Given the description of an element on the screen output the (x, y) to click on. 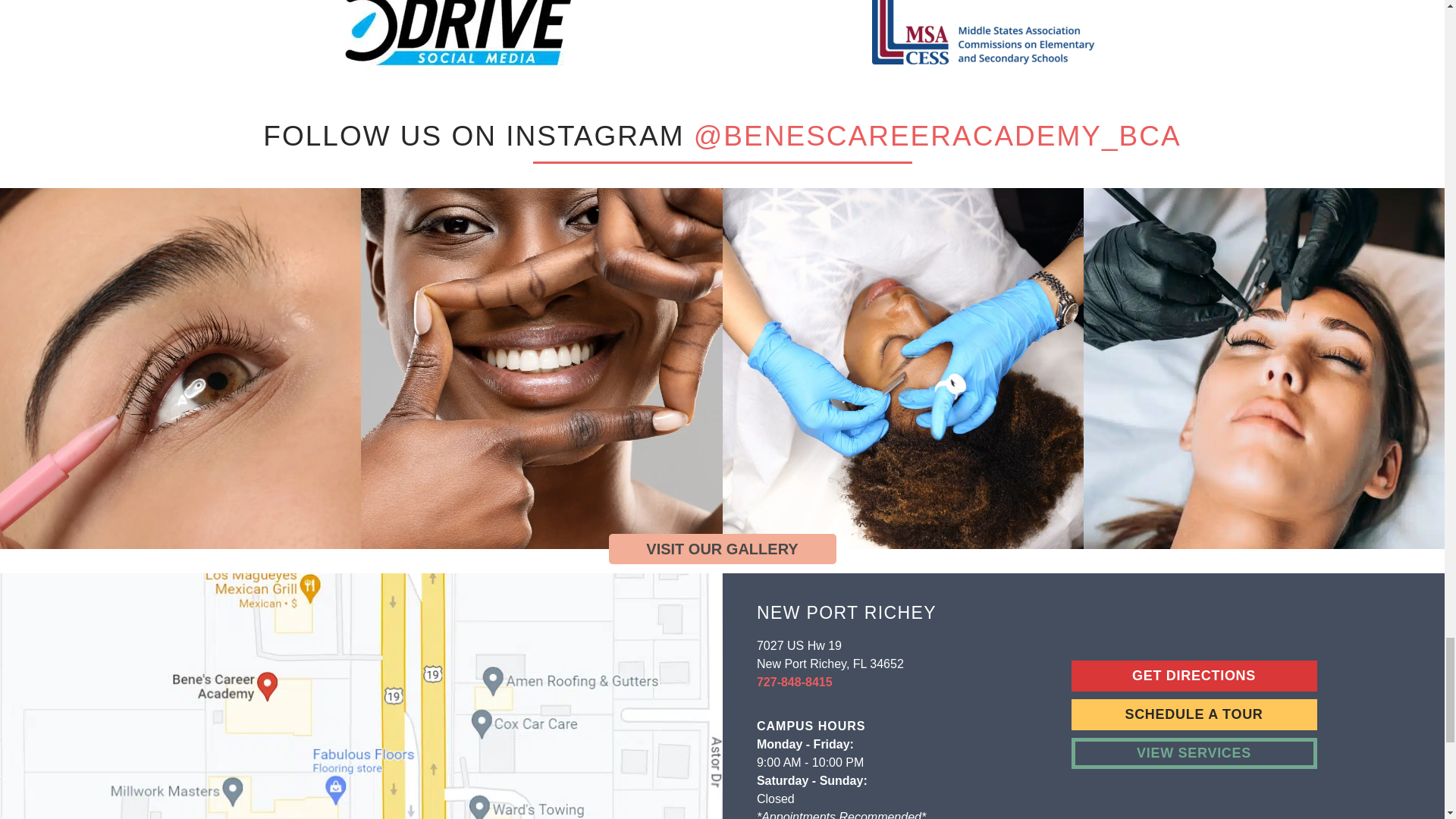
Visit New Port Richey Page (1193, 675)
Click to Call (794, 682)
